Given the description of an element on the screen output the (x, y) to click on. 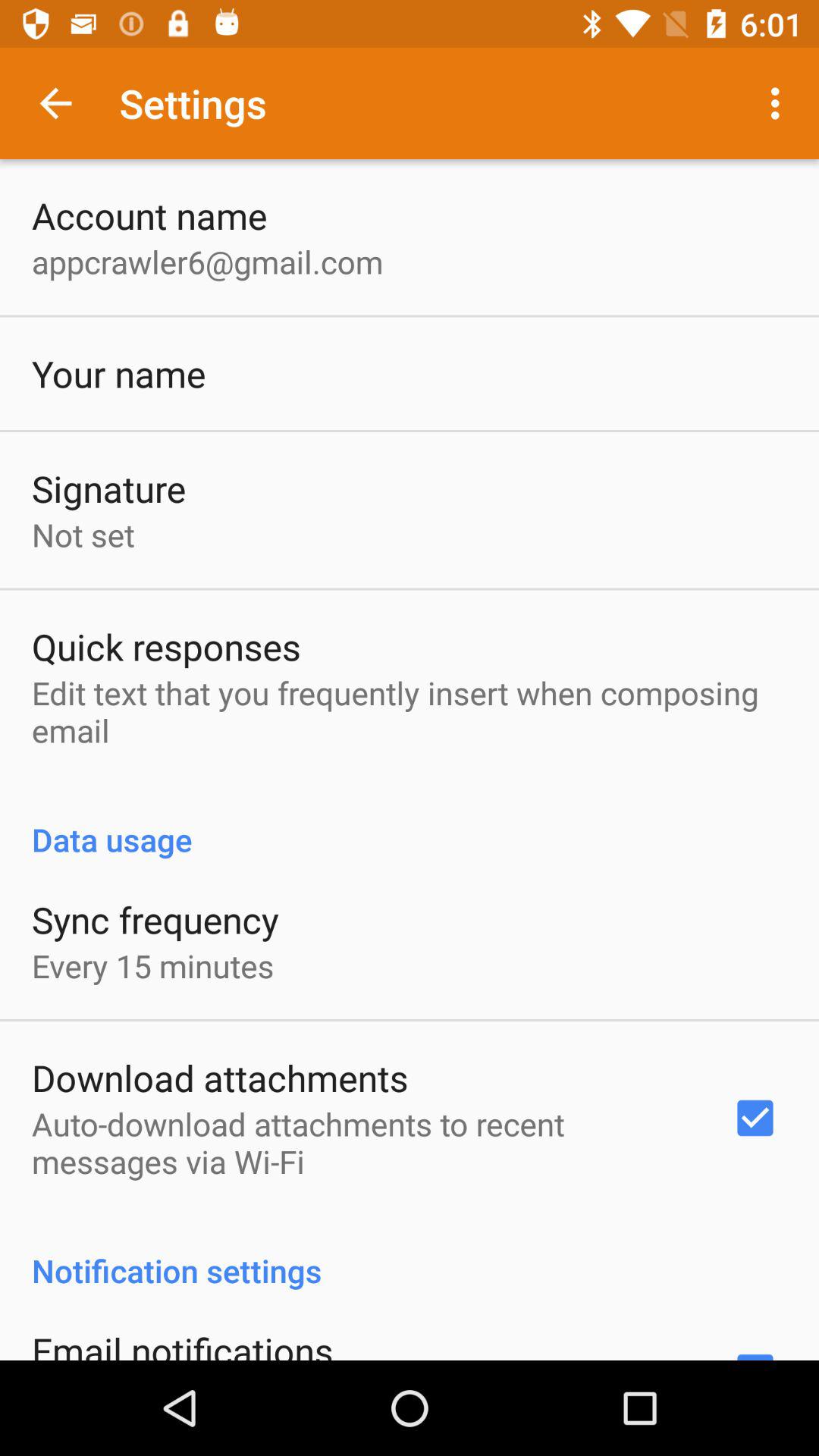
jump until the every 15 minutes (152, 965)
